Given the description of an element on the screen output the (x, y) to click on. 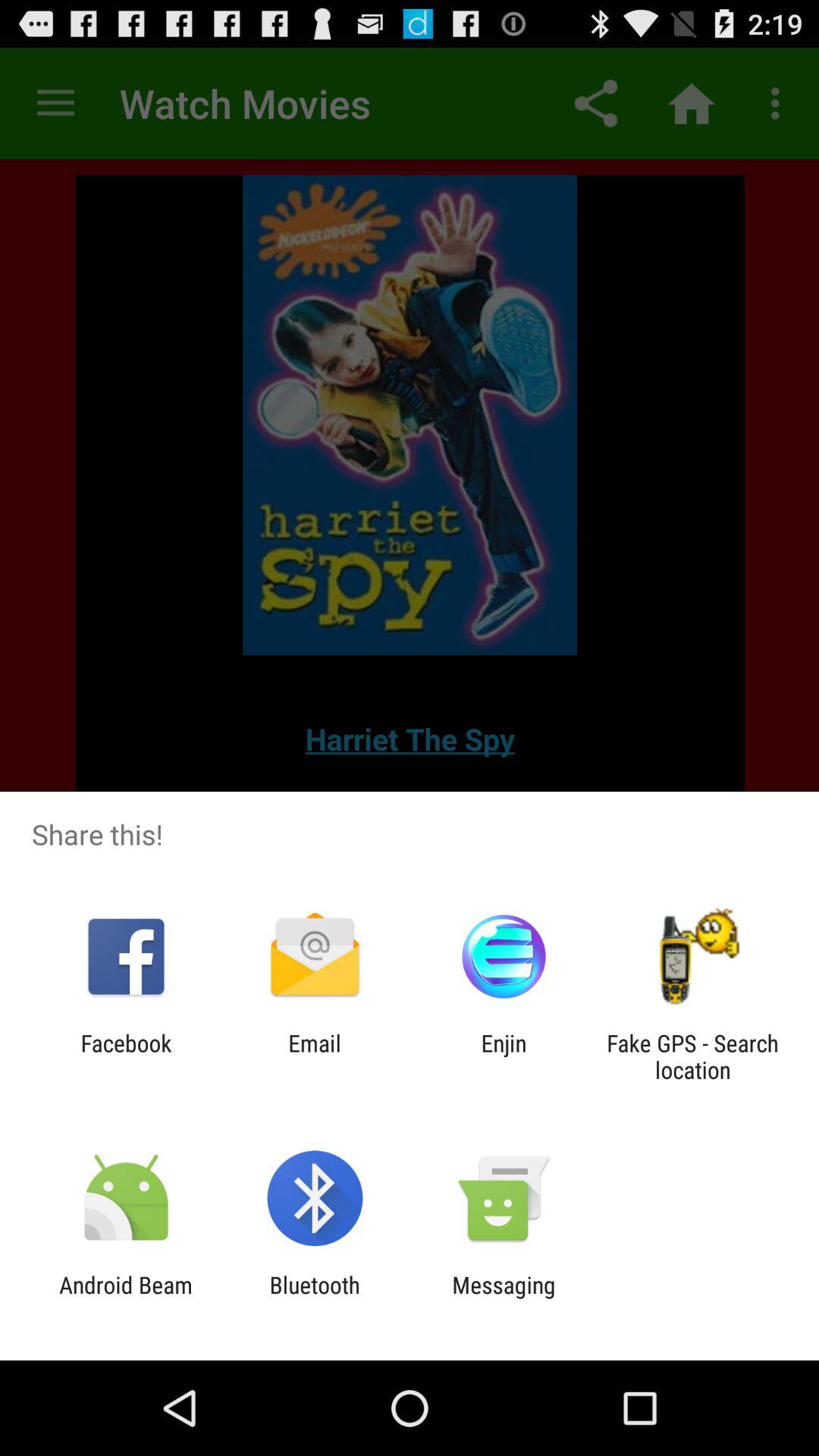
turn on item to the right of the bluetooth item (503, 1298)
